Given the description of an element on the screen output the (x, y) to click on. 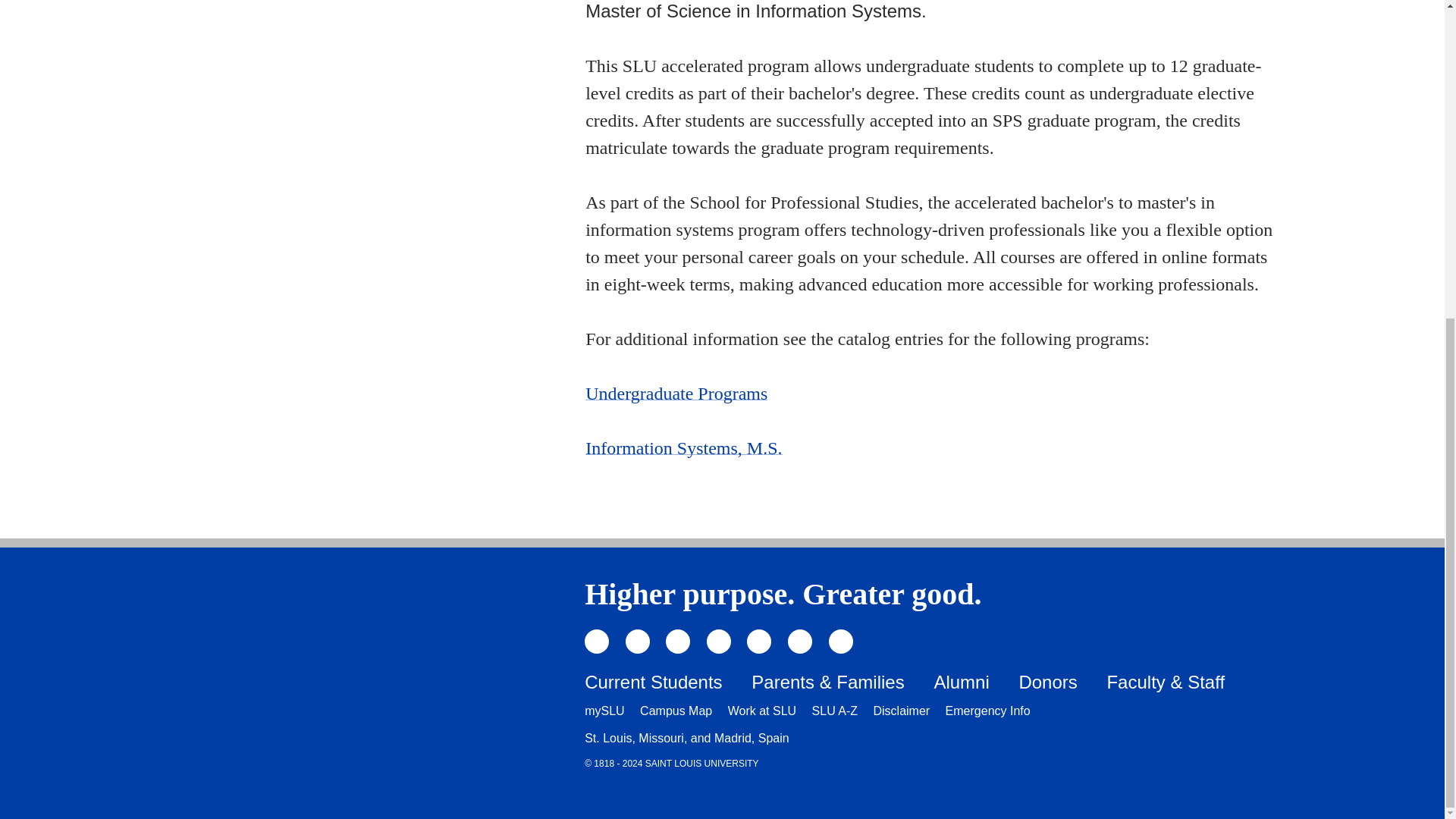
Undergraduate Programs (676, 393)
Information Systems, M.S. (683, 447)
Current Students (653, 681)
